Given the description of an element on the screen output the (x, y) to click on. 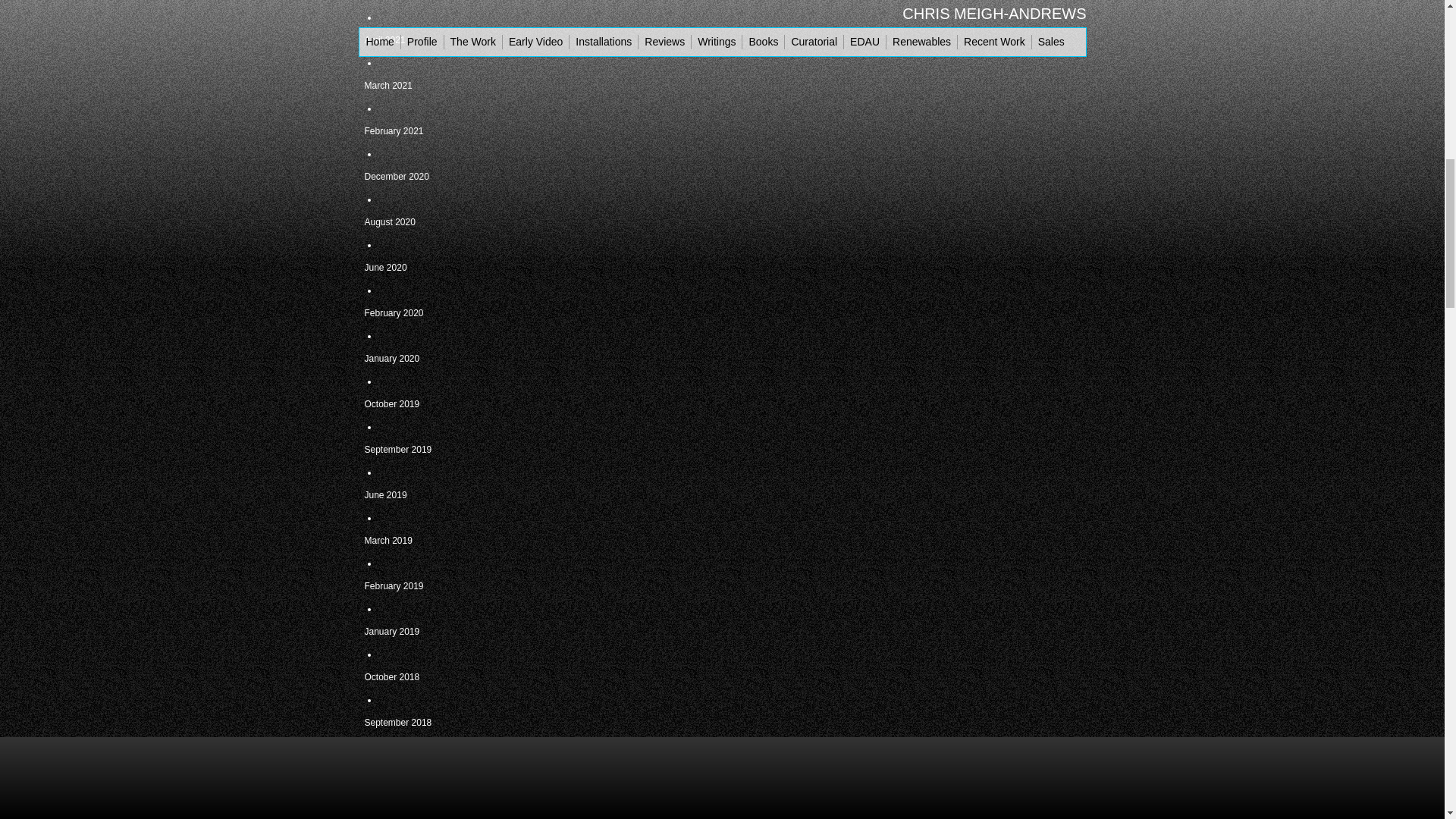
April 2021 (434, 39)
February 2021 (434, 130)
August 2020 (434, 221)
December 2020 (434, 176)
July 2021 (434, 2)
June 2020 (434, 267)
March 2021 (434, 85)
